Given the description of an element on the screen output the (x, y) to click on. 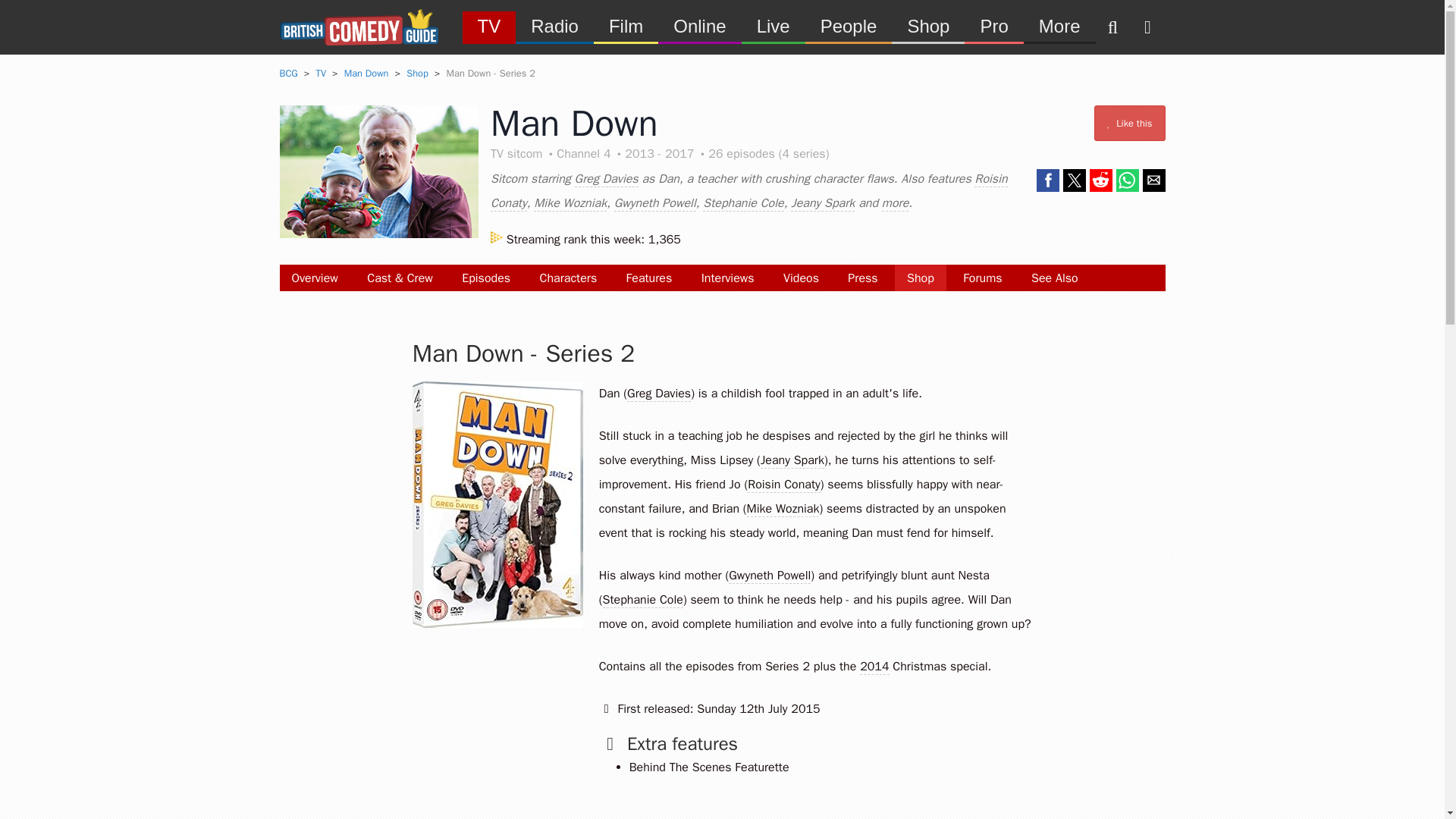
BCG (288, 73)
A guide to the year 2014 (874, 666)
Jeany Spark profile (792, 460)
Roisin Conaty (748, 191)
Online (699, 25)
Gwyneth Powell (654, 203)
Gwyneth Powell profile (769, 575)
Shop (920, 277)
Greg Davies profile (658, 393)
Overview (314, 277)
